Given the description of an element on the screen output the (x, y) to click on. 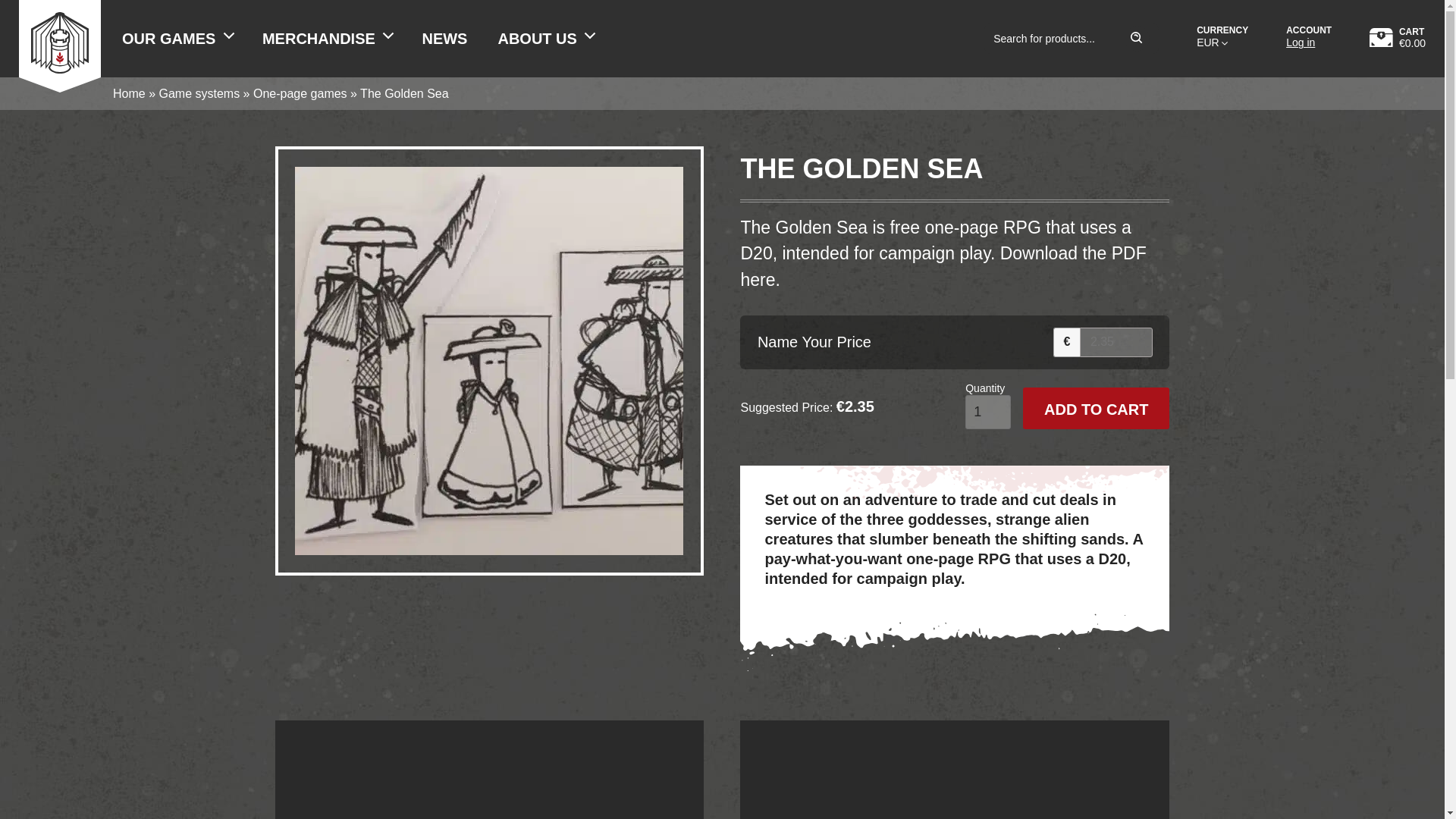
MERCHANDISE (327, 38)
1 (987, 411)
Rowan Rook and Decard (59, 38)
OUR GAMES (177, 38)
The Golden Sea (488, 545)
